Given the description of an element on the screen output the (x, y) to click on. 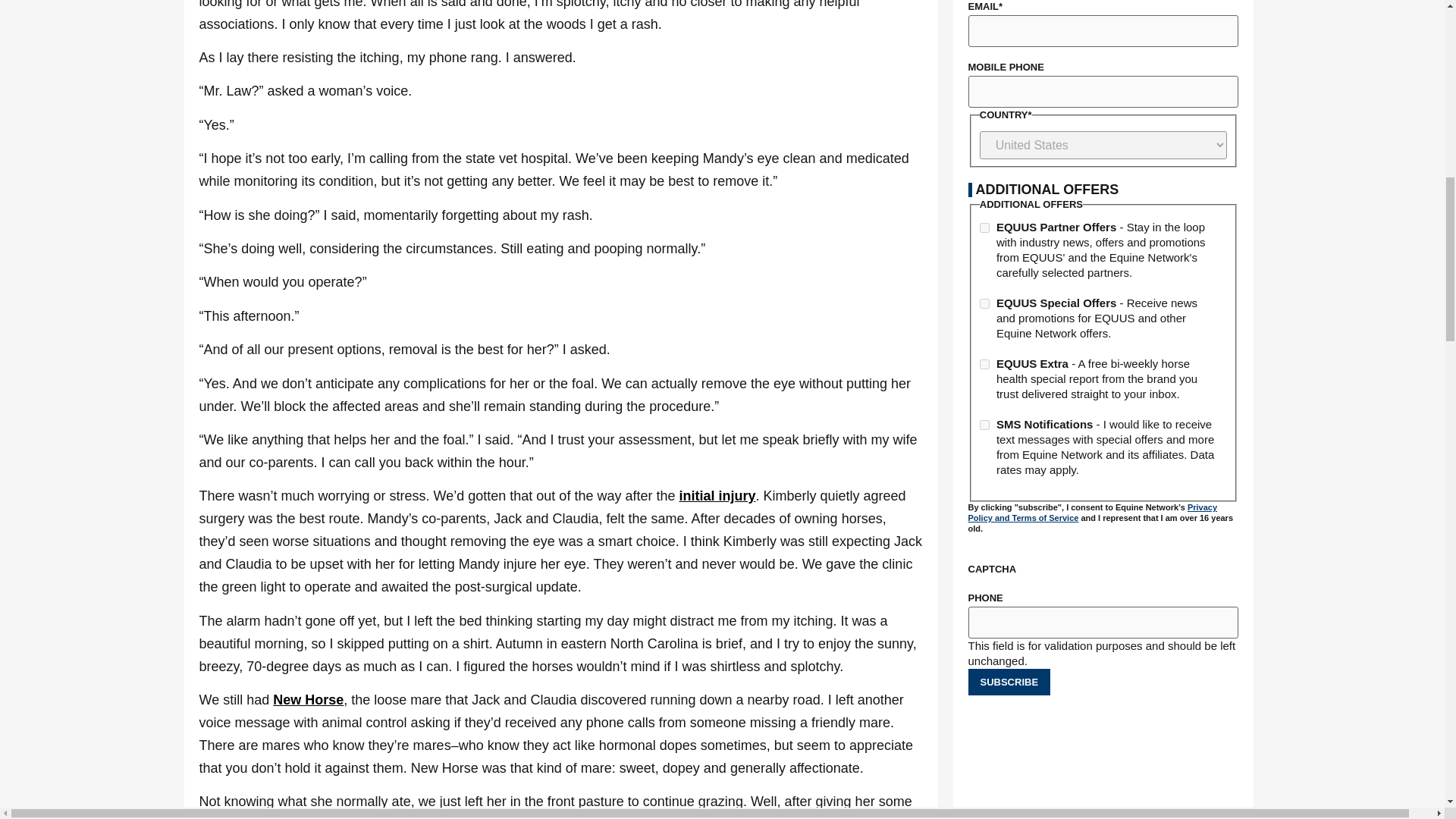
52f26a8f-e5be-4237-a9cb-227d8912a511 (984, 227)
SMS Notifications (984, 424)
0cd2e389-c43e-4146-b3bb-59ab437fd8f4 (984, 364)
Subscribe (1008, 682)
591f5baa-e9c3-40bf-bf02-f5923680caa3 (984, 303)
